Given the description of an element on the screen output the (x, y) to click on. 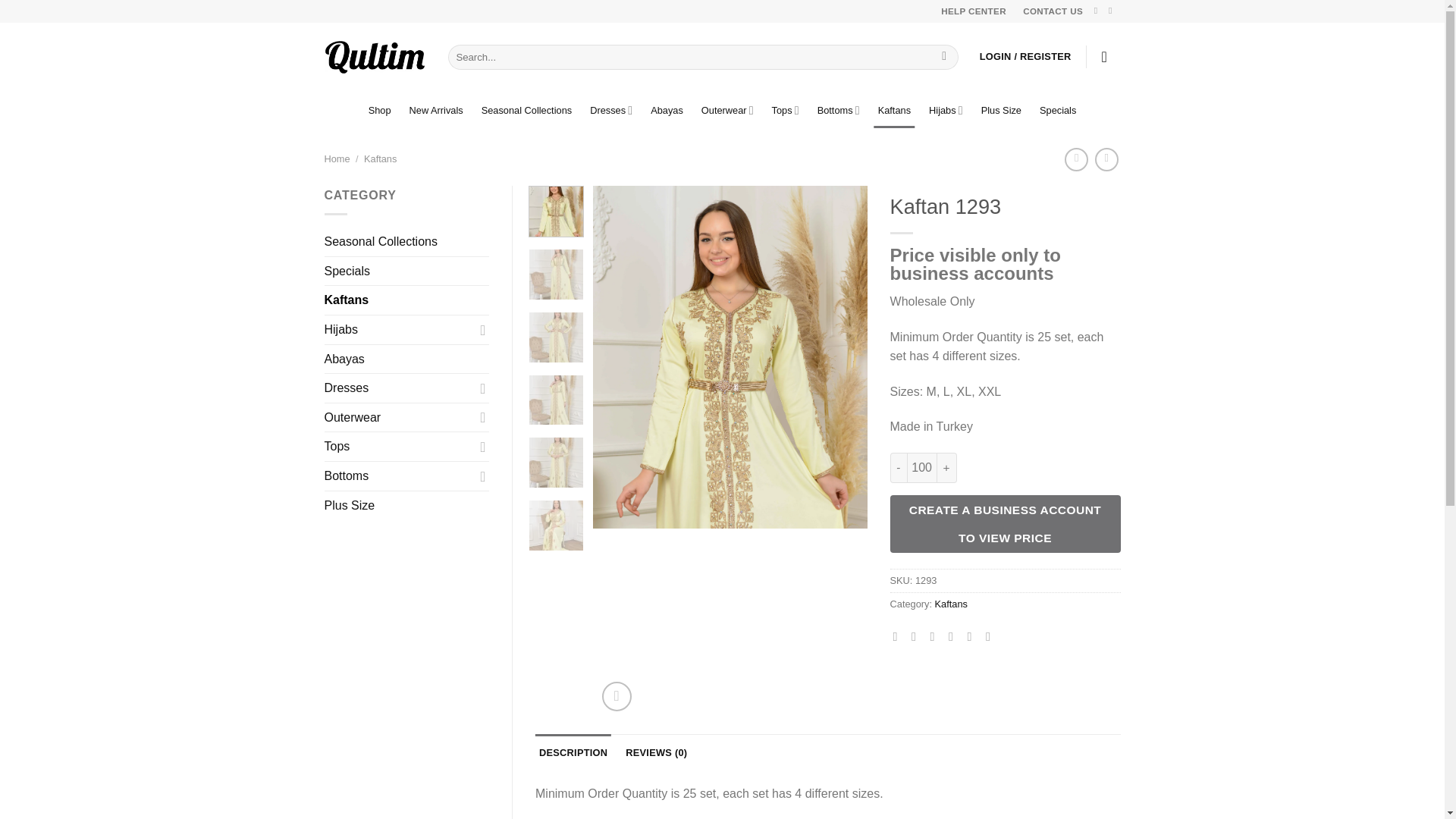
CONTACT US (1052, 11)
Hijabs (945, 110)
Specials (1057, 110)
New Arrivals (436, 110)
Share on Twitter (917, 635)
Zoom (616, 696)
Abayas (666, 110)
Follow on Facebook (1098, 9)
HELP CENTER (973, 11)
Home (337, 158)
Follow on Instagram (1113, 9)
Cart (1108, 56)
Kaftans (894, 110)
Dresses (610, 110)
Plus Size (1001, 110)
